Given the description of an element on the screen output the (x, y) to click on. 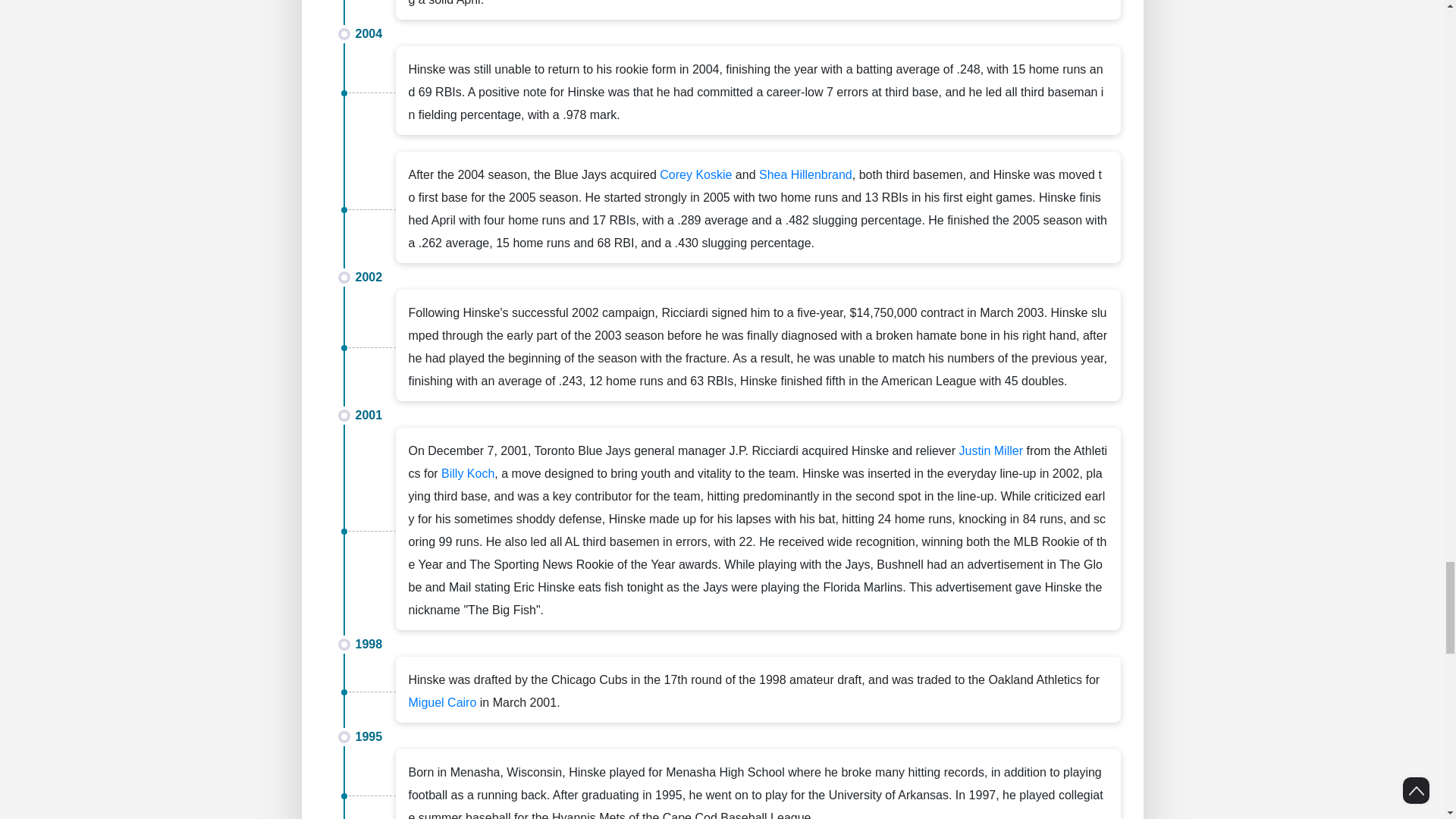
Shea Hillenbrand (804, 174)
Miguel Cairo (441, 702)
Corey Koskie (695, 174)
Justin Miller (991, 450)
Billy Koch (468, 472)
